Given the description of an element on the screen output the (x, y) to click on. 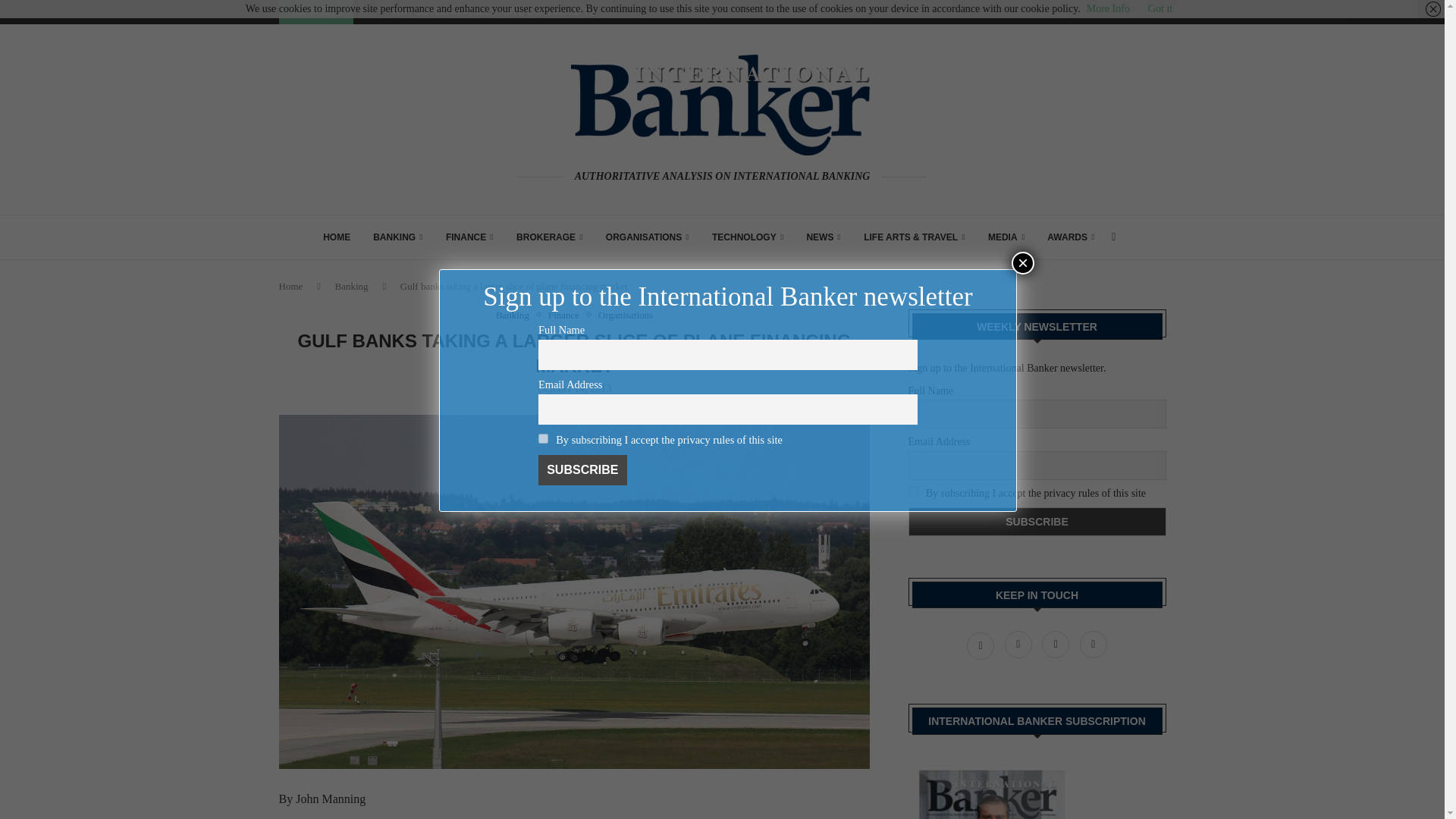
Organisations (625, 315)
on (543, 438)
TECHNOLOGY (747, 237)
Finance (567, 315)
Home (290, 285)
BROKERAGE (549, 237)
Banking (351, 285)
Subscribe (1037, 521)
ORGANISATIONS (646, 237)
on (913, 491)
Subscribe (582, 470)
AWARDS (1070, 237)
Banking (516, 315)
BANKING (397, 237)
FINANCE (469, 237)
